Given the description of an element on the screen output the (x, y) to click on. 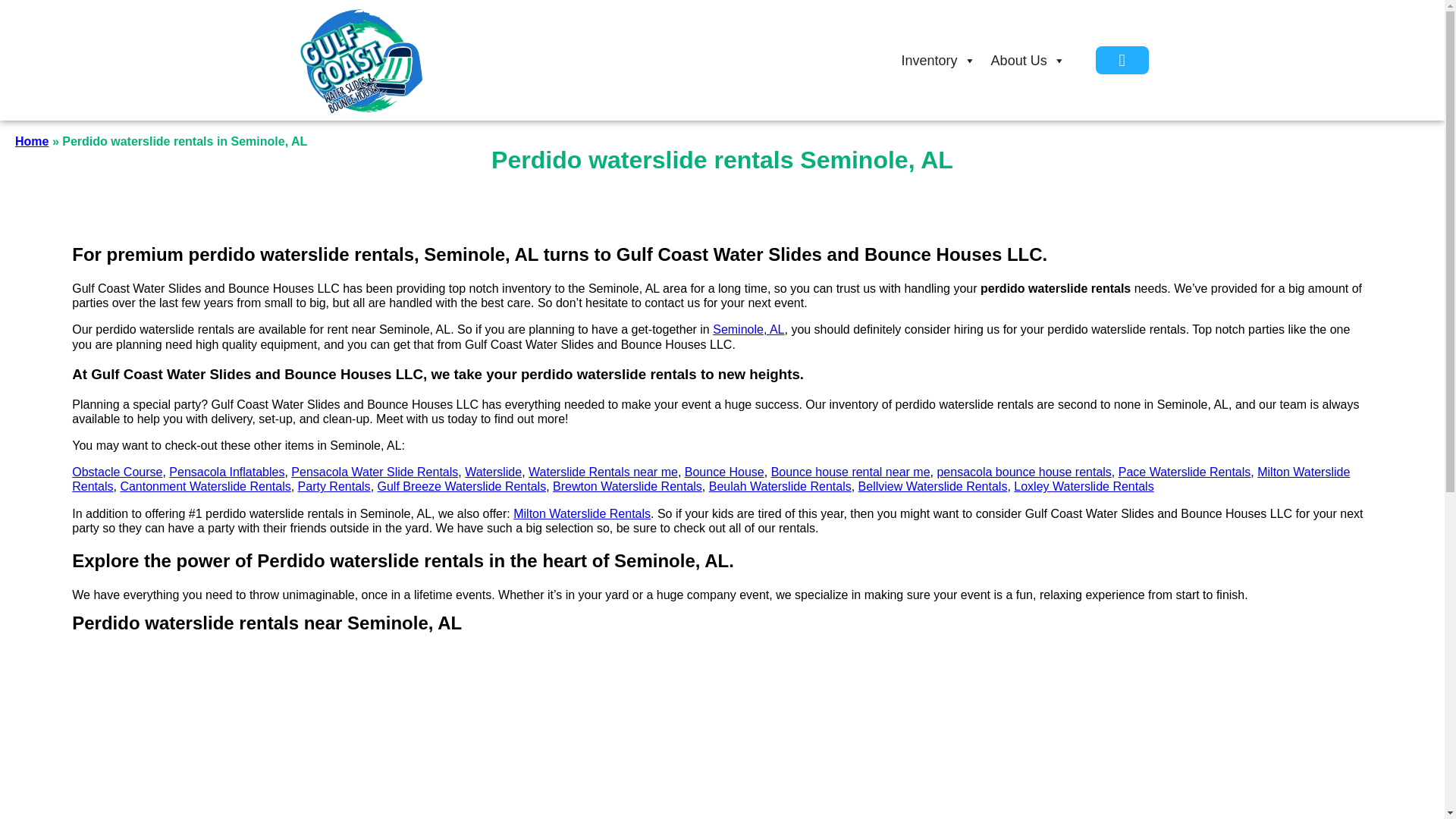
Party Rentals (334, 486)
Bounce House (724, 472)
Cantonment Waterslide Rentals (204, 486)
Pensacola Inflatables (225, 472)
pensacola bounce house rentals (1023, 472)
Bellview Waterslide Rentals (933, 486)
Home (31, 141)
Loxley Waterslide Rentals (1083, 486)
Waterslide (492, 472)
Gulf Breeze Waterslide Rentals (462, 486)
